Given the description of an element on the screen output the (x, y) to click on. 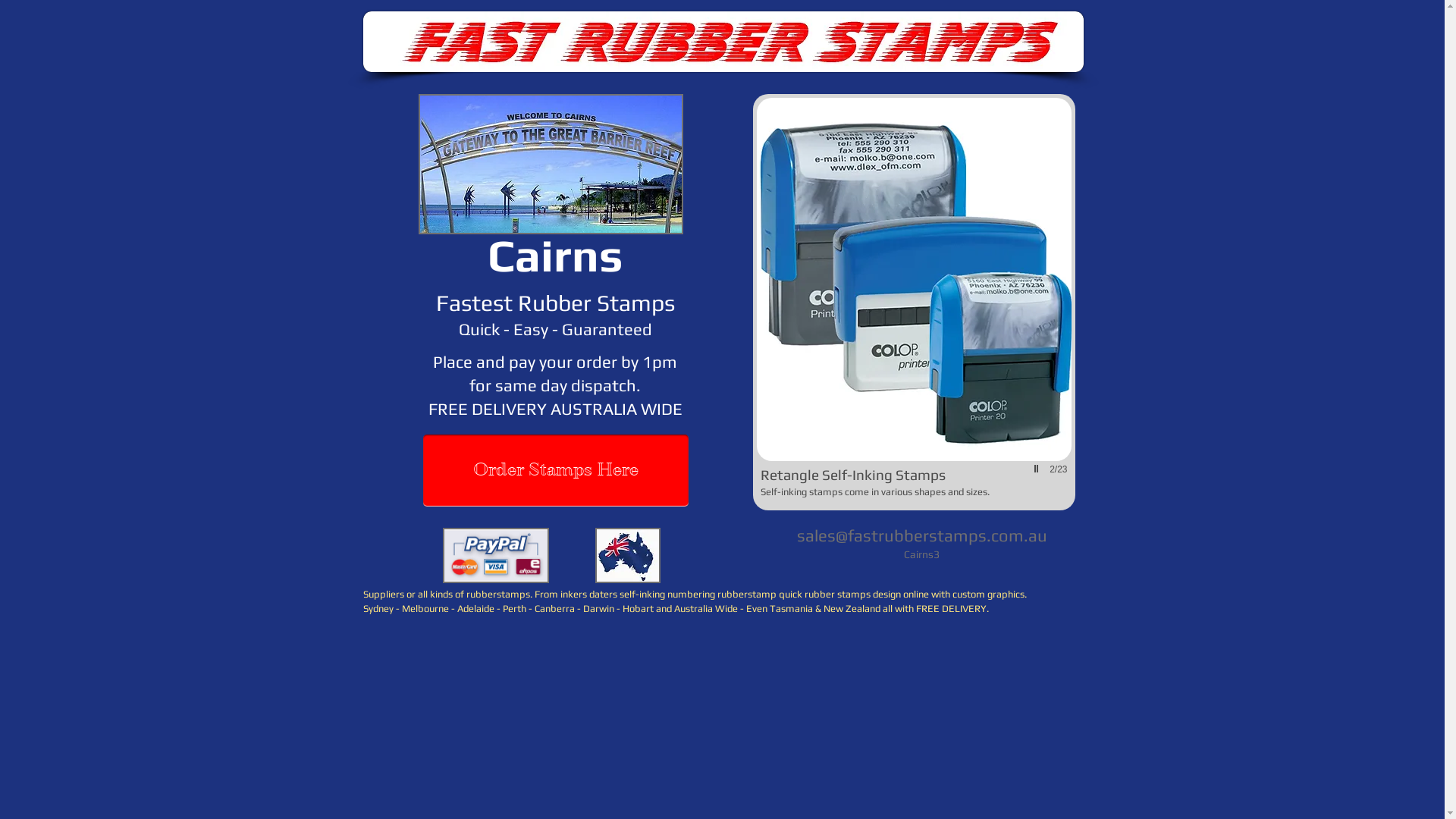
Fast Rubber Stamps Element type: hover (722, 41)
Order Stamps Here Element type: text (555, 470)
sales@fastrubberstamps.com.au Element type: text (921, 535)
